Given the description of an element on the screen output the (x, y) to click on. 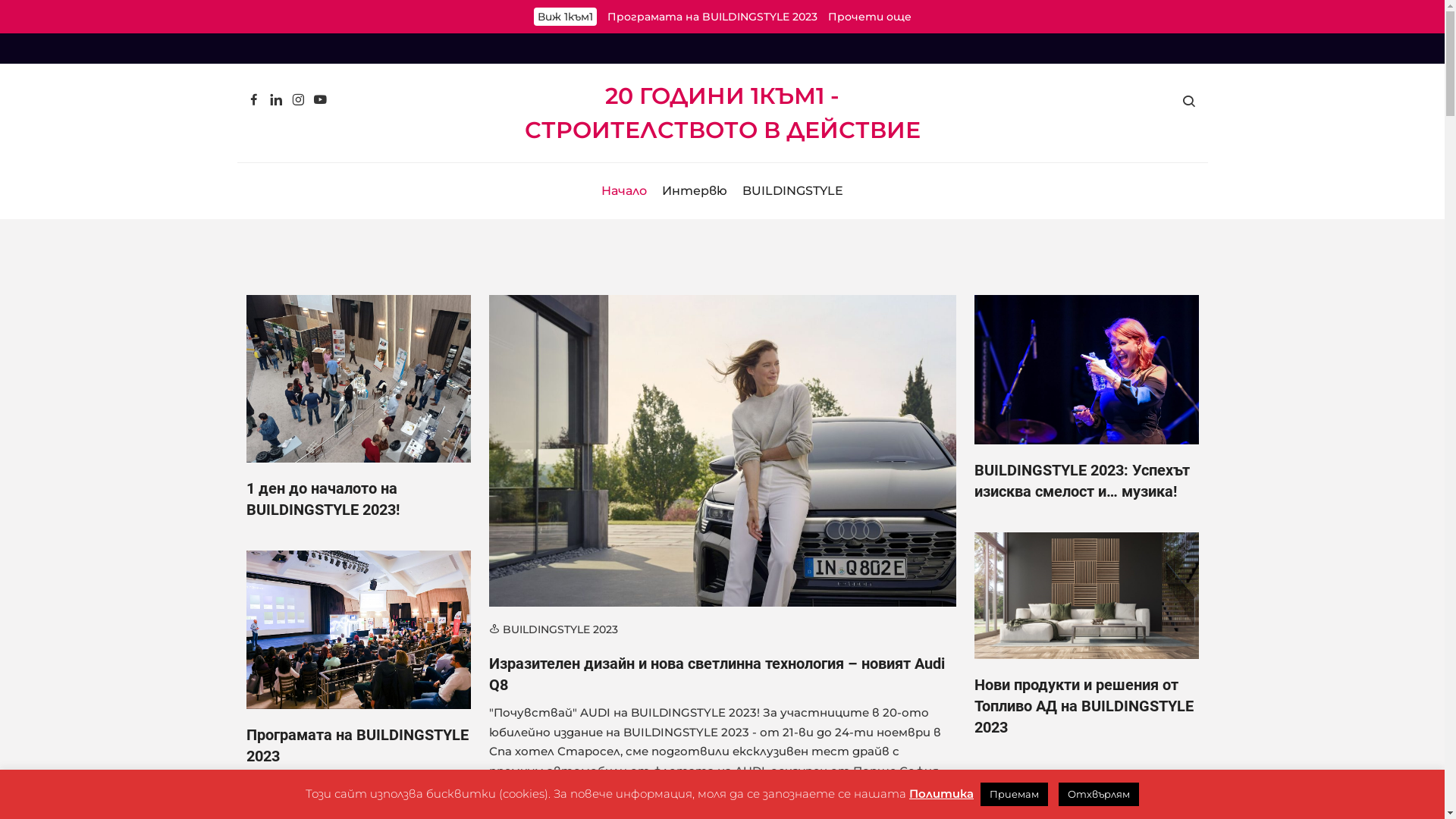
BUILDINGSTYLE Element type: text (792, 191)
